Given the description of an element on the screen output the (x, y) to click on. 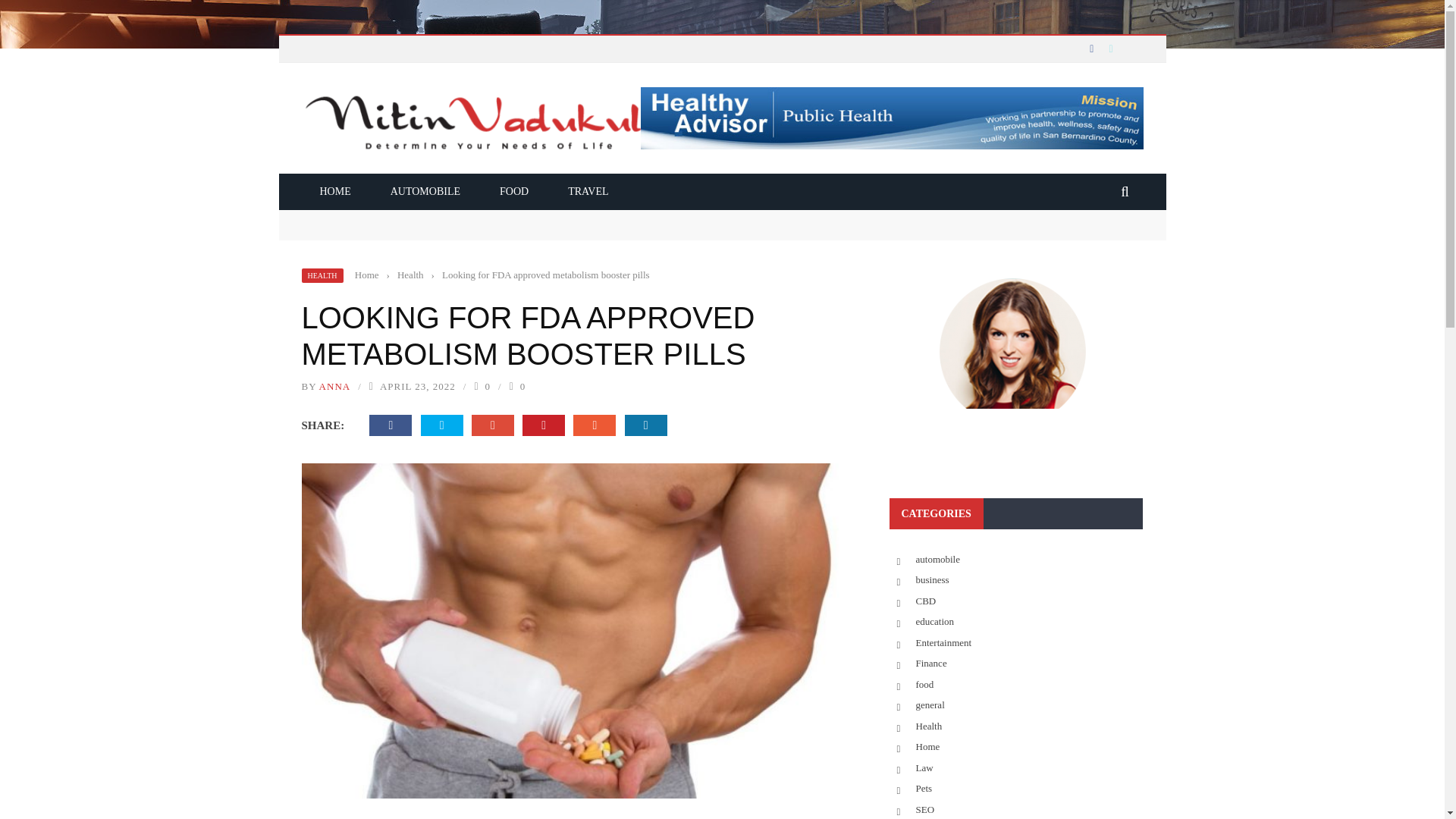
ANNA (334, 386)
Health (410, 274)
TRAVEL (588, 191)
HEALTH (322, 275)
FOOD (514, 191)
AUTOMOBILE (425, 191)
HOME (335, 191)
Home (366, 274)
